Given the description of an element on the screen output the (x, y) to click on. 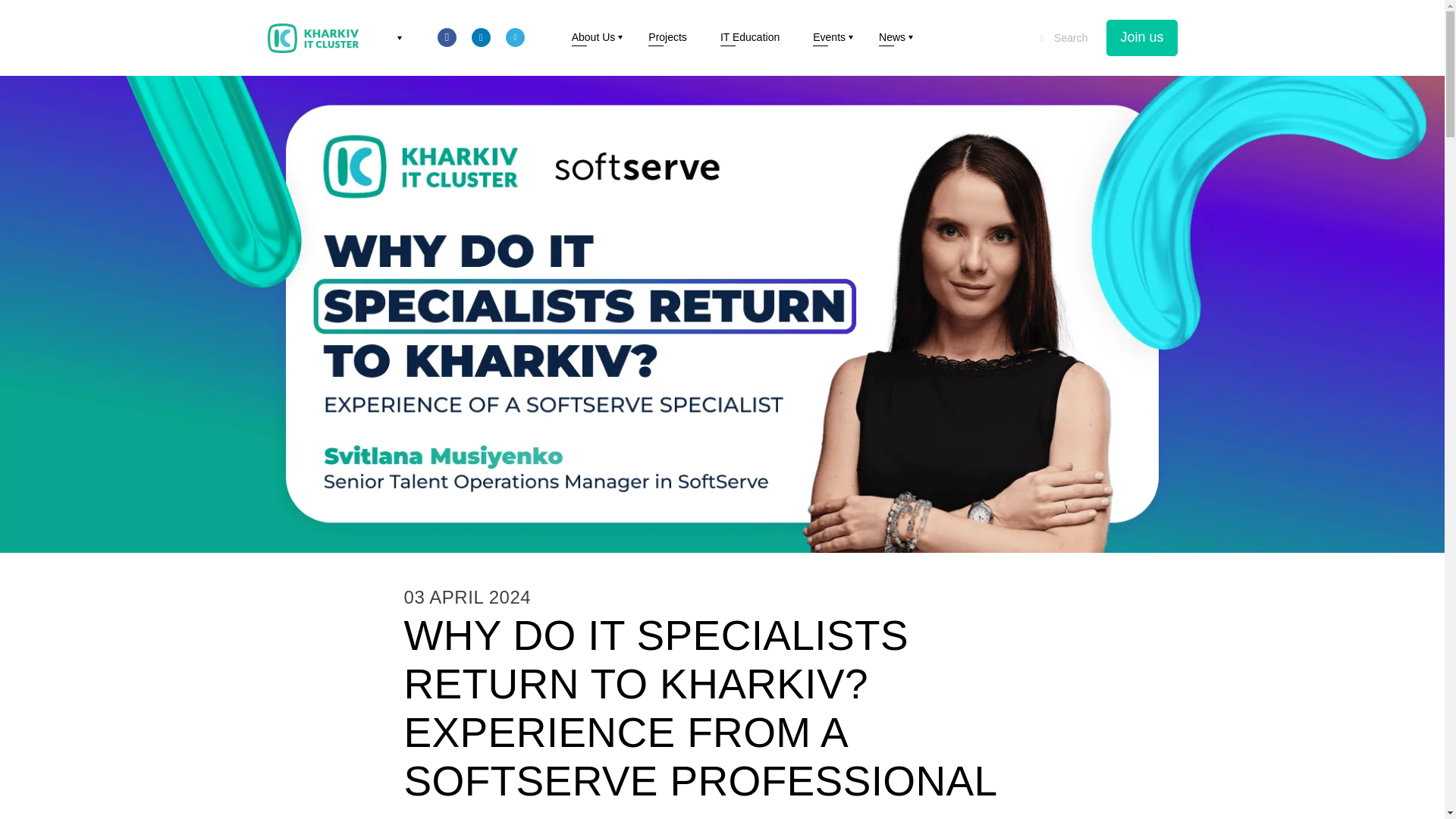
IT Cluster (312, 38)
IT Cluster (312, 38)
Join us (1141, 37)
News (892, 37)
Search (1064, 38)
Projects (667, 37)
IT Education (749, 37)
About Us (593, 43)
About Us (593, 37)
Events (828, 37)
